Given the description of an element on the screen output the (x, y) to click on. 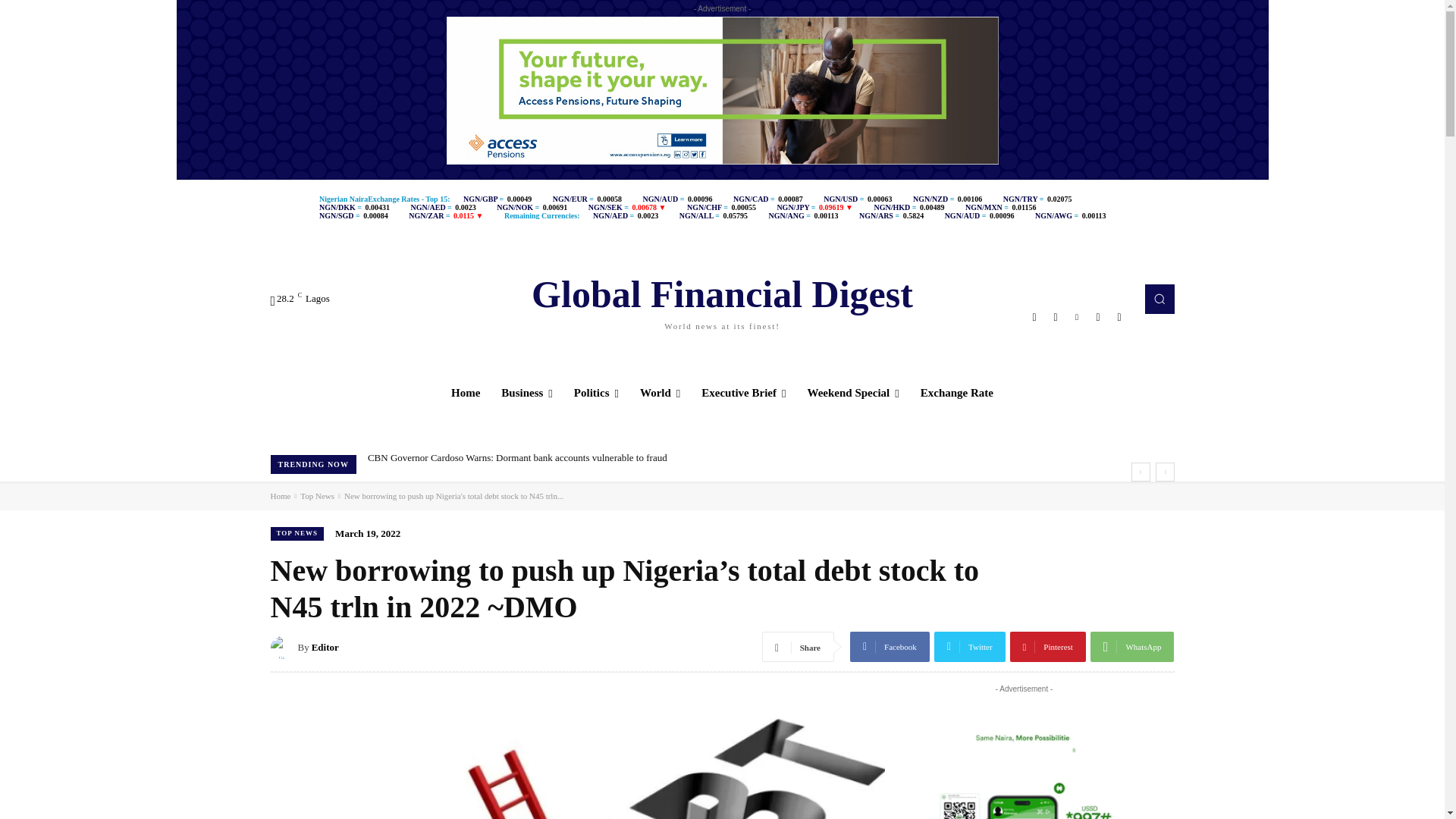
Home (465, 392)
Instagram (1055, 316)
Twitter (1097, 316)
Linkedin (722, 298)
Facebook (1076, 316)
Business (1034, 316)
Twitter (526, 392)
Instagram (1118, 316)
